Given the description of an element on the screen output the (x, y) to click on. 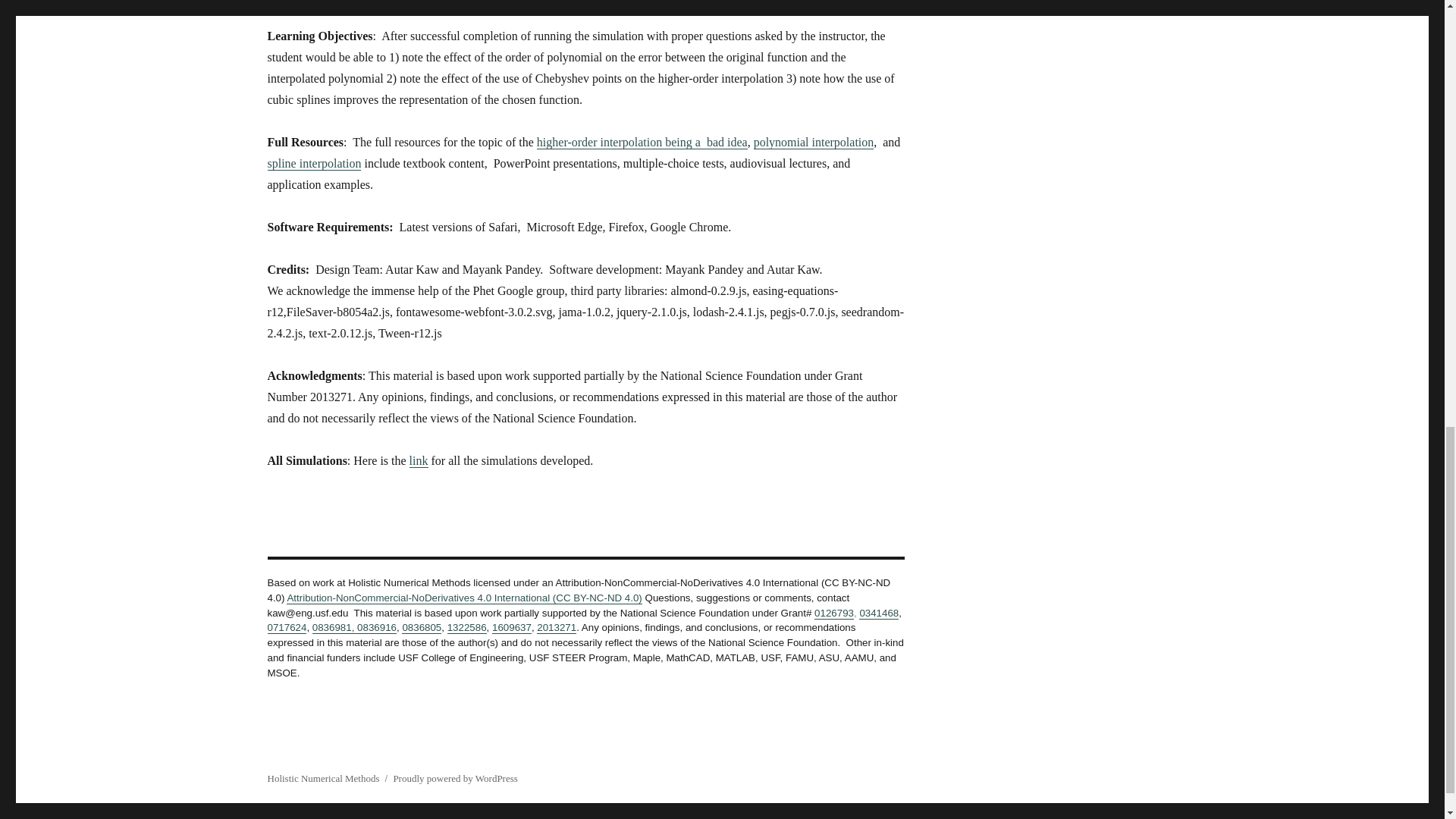
polynomial interpolation (814, 141)
link (418, 460)
0341468 (878, 613)
spline interpolation (313, 163)
higher-order interpolation being a  bad idea (642, 141)
0126793 (833, 613)
